Given the description of an element on the screen output the (x, y) to click on. 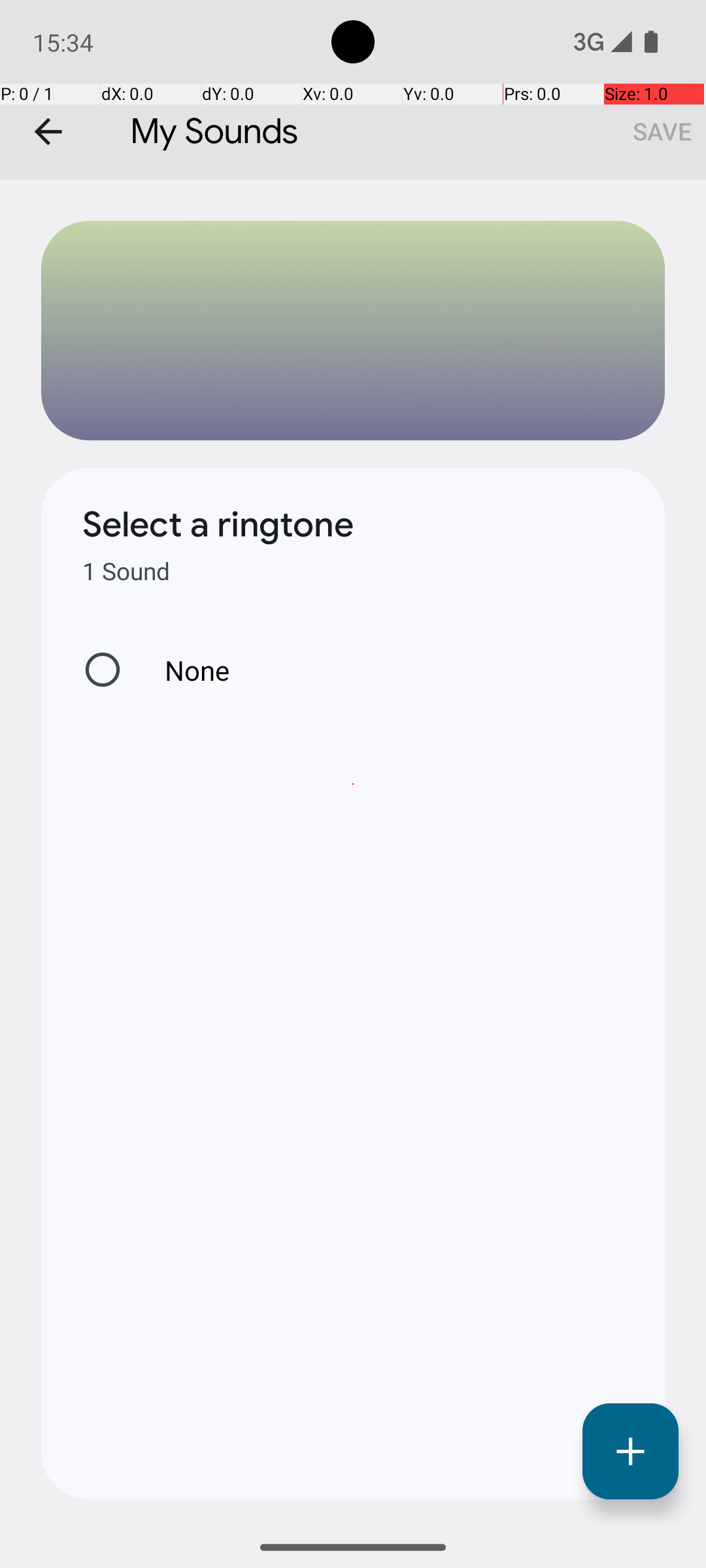
Add sound files Element type: android.widget.ImageButton (630, 1451)
